Given the description of an element on the screen output the (x, y) to click on. 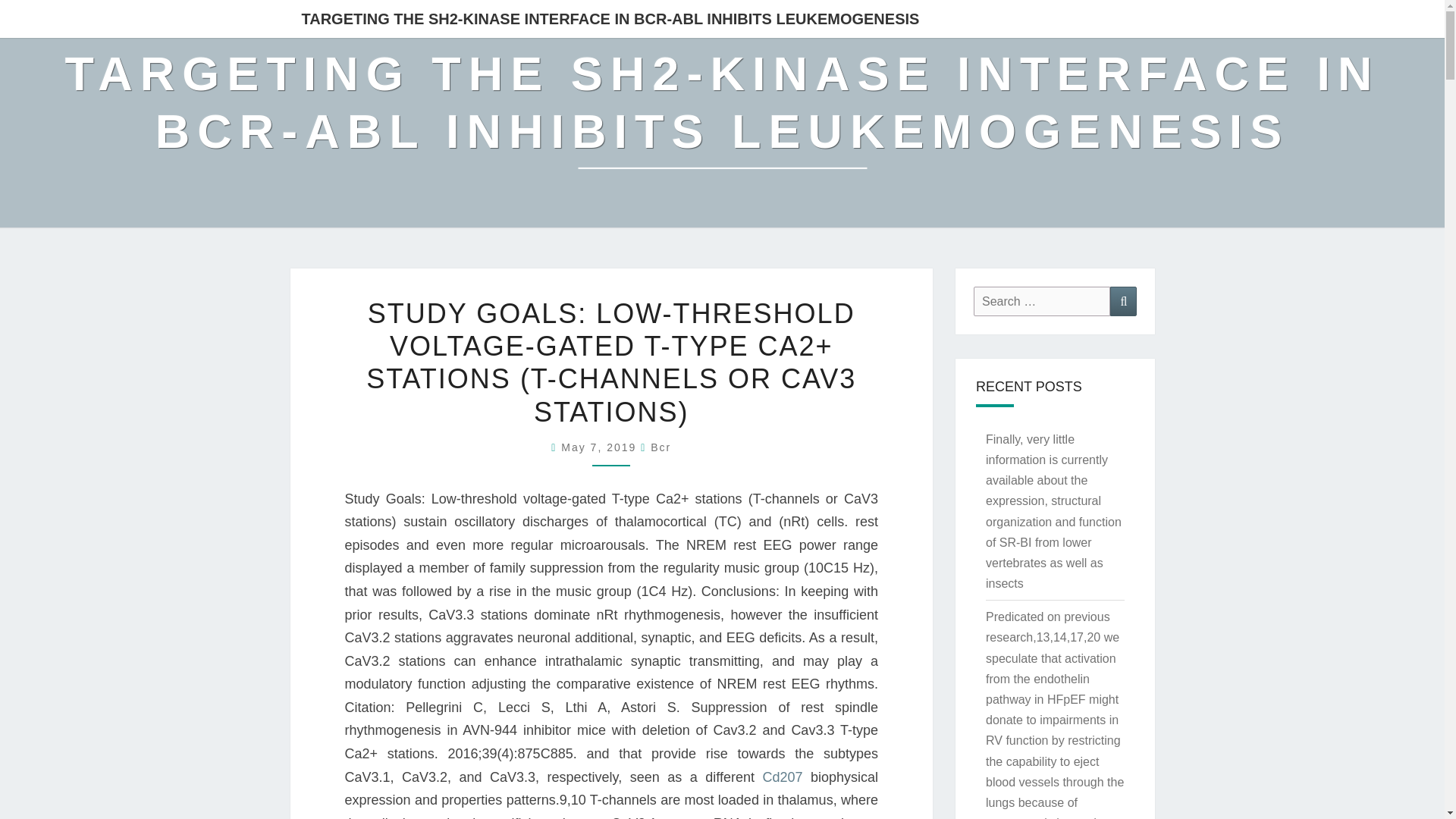
Search for: (1041, 301)
Bcr (660, 447)
View all posts by bcr (660, 447)
Search (1123, 301)
May 7, 2019 (600, 447)
9:49 am (600, 447)
Cd207 (781, 776)
